Given the description of an element on the screen output the (x, y) to click on. 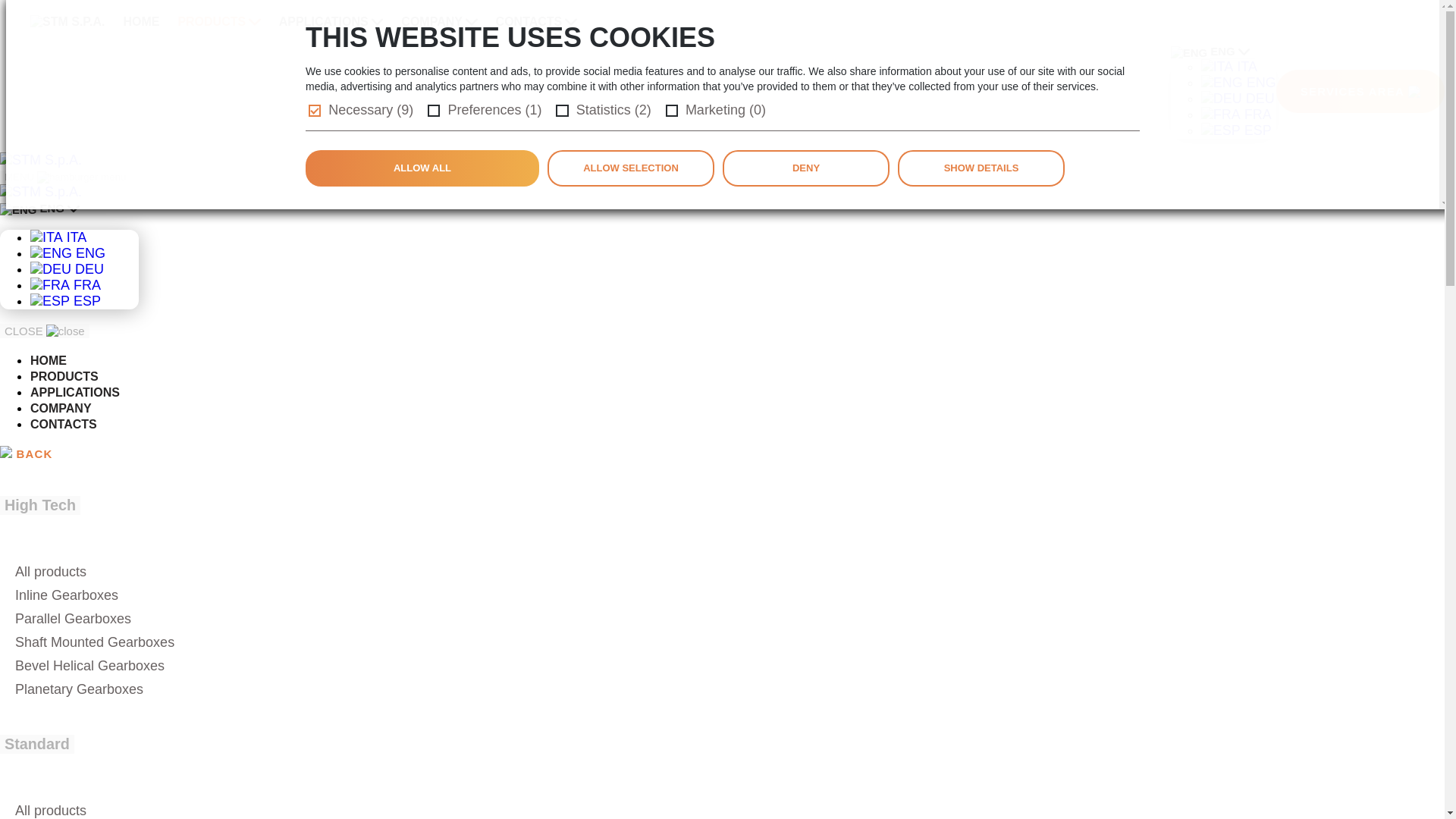
on (314, 110)
DENY (805, 167)
on (561, 110)
HOME (140, 21)
on (671, 110)
on (433, 110)
ALLOW ALL (421, 167)
SHOW DETAILS (981, 167)
ALLOW SELECTION (630, 167)
